Given the description of an element on the screen output the (x, y) to click on. 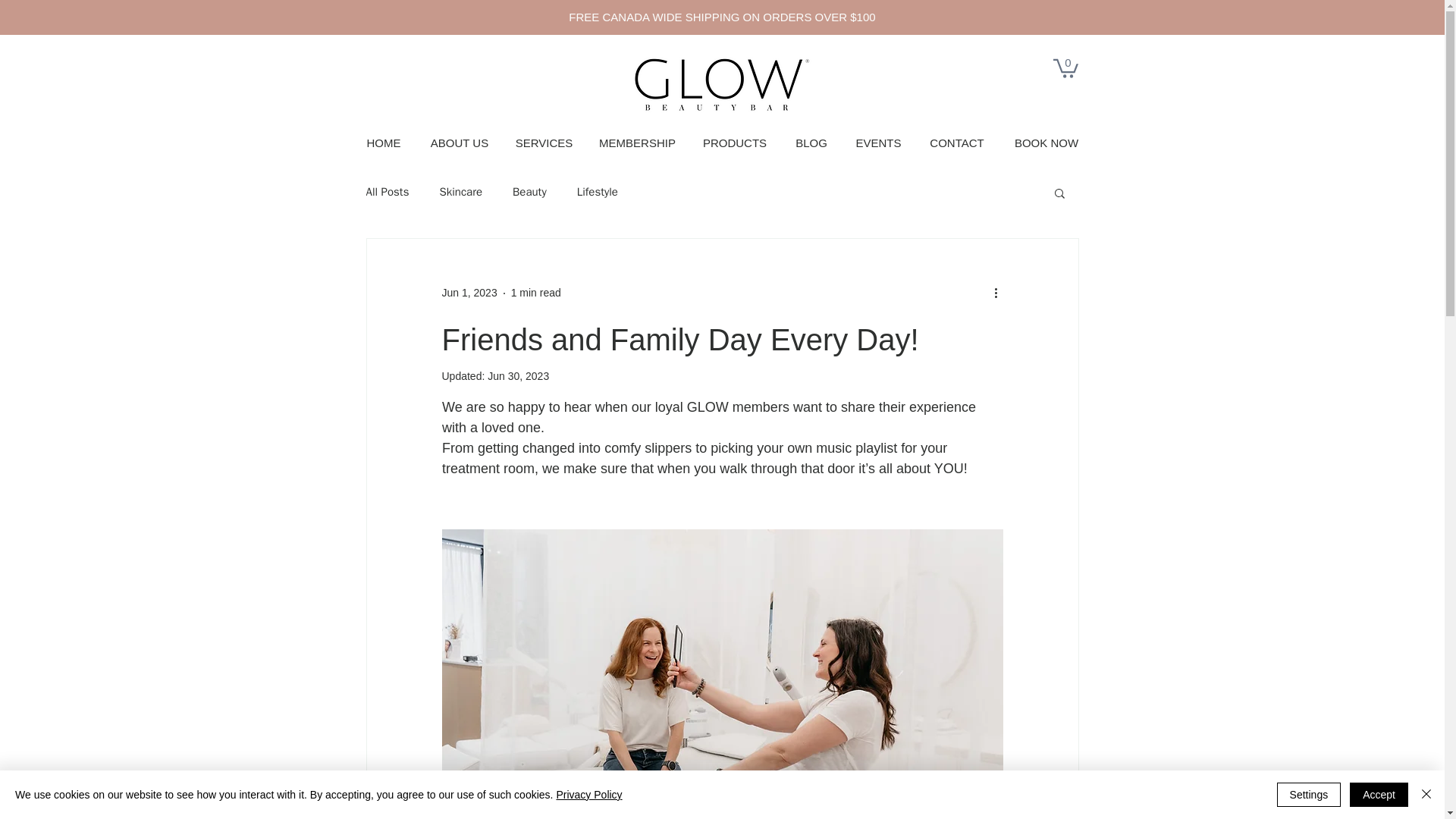
Skincare (460, 192)
Wix Chat (35, 783)
ABOUT US (459, 142)
BLOG (811, 142)
All Posts (387, 192)
HOME (383, 142)
CONTACT (956, 142)
Lifestyle (596, 192)
PRODUCTS (734, 142)
BOOK NOW (1046, 142)
